Given the description of an element on the screen output the (x, y) to click on. 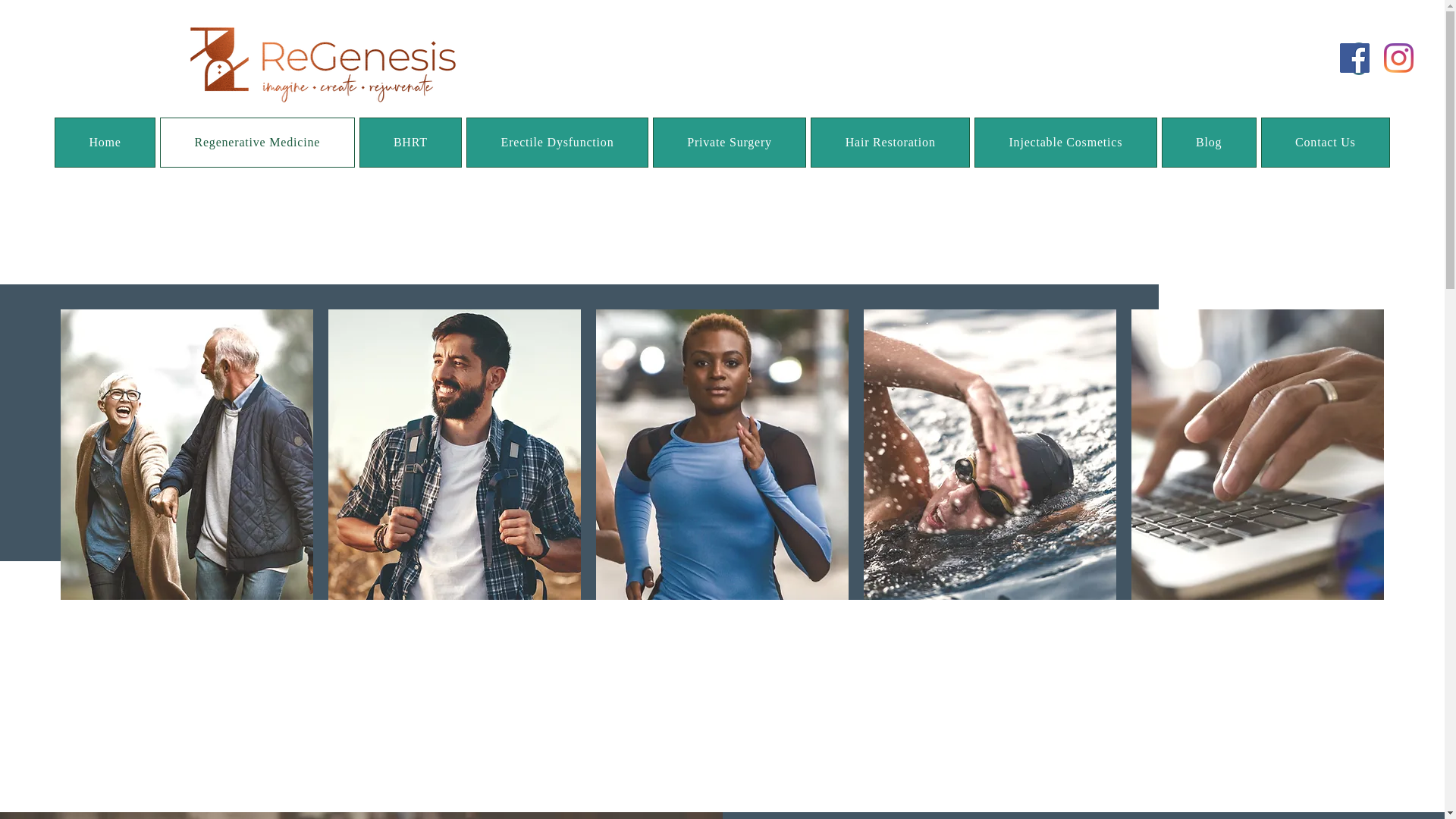
Injectable Cosmetics (1065, 142)
Contact Us (1325, 142)
Erectile Dysfunction (556, 142)
Hair Restoration (889, 142)
Blog (1208, 142)
Regenerative Medicine (256, 142)
Home (105, 142)
Private Surgery (729, 142)
BHRT (411, 142)
